Given the description of an element on the screen output the (x, y) to click on. 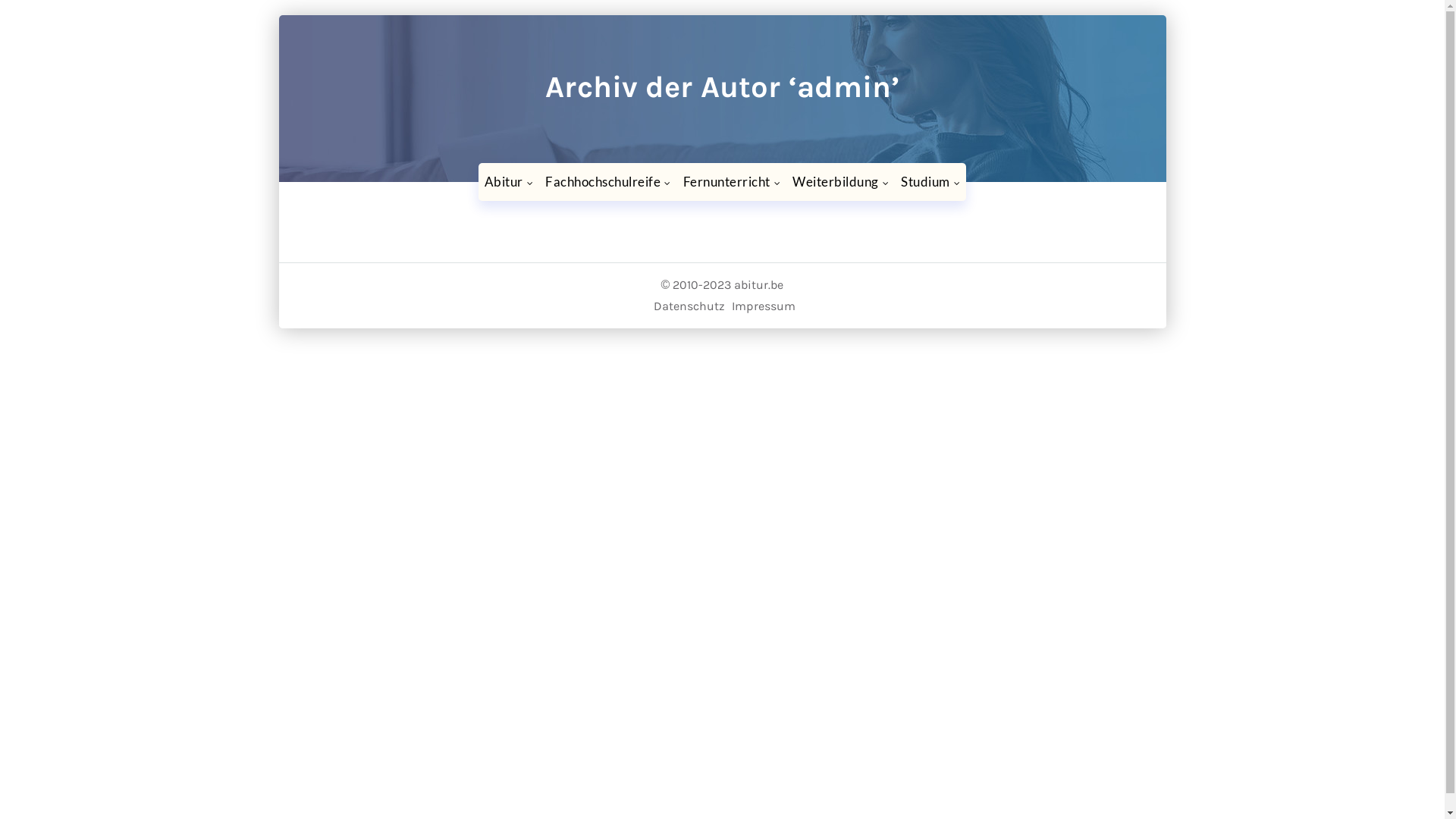
Fernunterricht Element type: text (732, 181)
Fachhochschulreife Element type: text (608, 181)
Impressum Element type: text (762, 305)
Abitur Element type: text (508, 181)
Weiterbildung Element type: text (840, 181)
Datenschutz Element type: text (688, 305)
Studium Element type: text (930, 181)
